Given the description of an element on the screen output the (x, y) to click on. 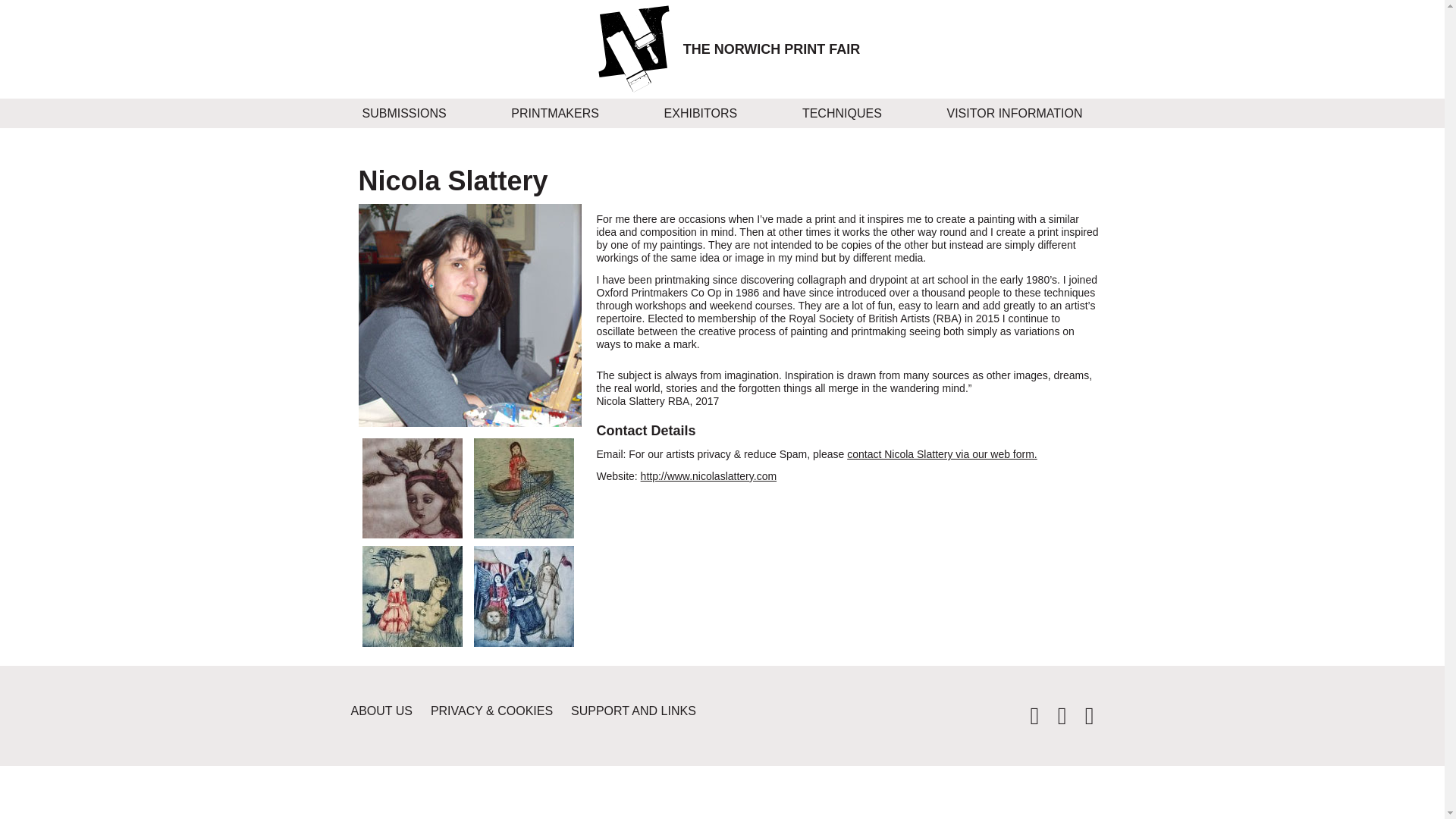
TECHNIQUES (841, 112)
instagram (1082, 719)
SUBMISSIONS (403, 112)
ABOUT US (389, 710)
VISITOR INFORMATION (1015, 112)
SUPPORT AND LINKS (640, 710)
twitter (1028, 719)
contact Nicola Slattery via our web form. (941, 453)
PRINTMAKERS (554, 112)
THE NORWICH PRINT FAIR (771, 49)
